Given the description of an element on the screen output the (x, y) to click on. 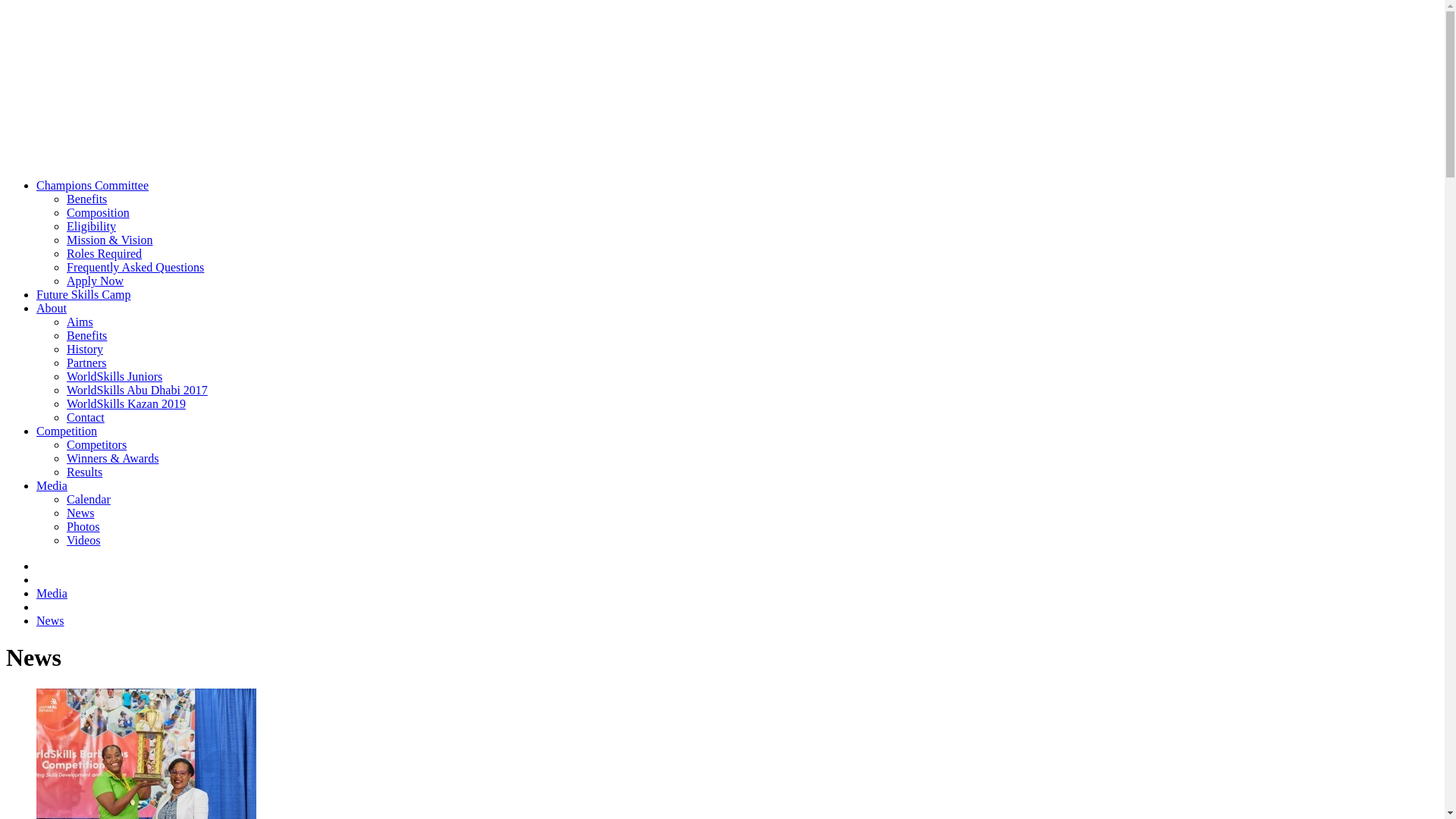
Contact Element type: text (85, 417)
WorldSkills Kazan 2019 Element type: text (125, 403)
Benefits Element type: text (86, 198)
WorldSkills Juniors Element type: text (114, 376)
Competitors Element type: text (96, 444)
Benefits Element type: text (86, 335)
Composition Element type: text (97, 212)
Aims Element type: text (79, 321)
Champions Committee Element type: text (92, 184)
Photos Element type: text (83, 526)
Future Skills Camp Element type: text (83, 294)
Frequently Asked Questions Element type: text (134, 266)
News Element type: text (80, 512)
Media Element type: text (51, 592)
Eligibility Element type: text (91, 225)
Competition Element type: text (66, 430)
Videos Element type: text (83, 539)
Results Element type: text (84, 471)
Winners & Awards Element type: text (112, 457)
Partners Element type: text (86, 362)
Calendar Element type: text (88, 498)
News Element type: text (49, 620)
Mission & Vision Element type: text (109, 239)
Media Element type: text (51, 485)
Roles Required Element type: text (103, 253)
Apply Now Element type: text (94, 280)
WorldSkills Abu Dhabi 2017 Element type: text (136, 389)
About Element type: text (51, 307)
History Element type: text (84, 348)
